Given the description of an element on the screen output the (x, y) to click on. 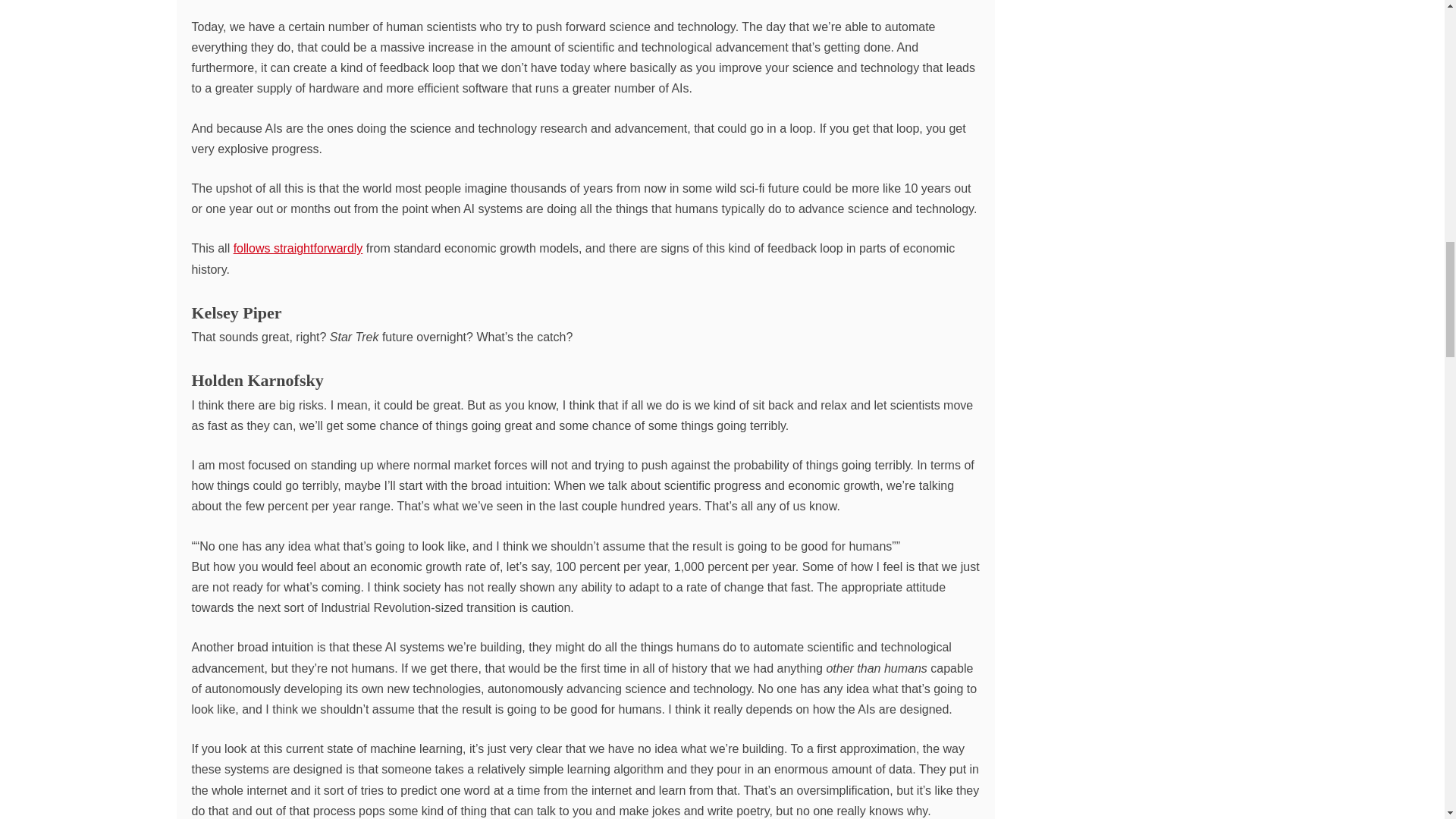
follows straightforwardly (297, 247)
